Given the description of an element on the screen output the (x, y) to click on. 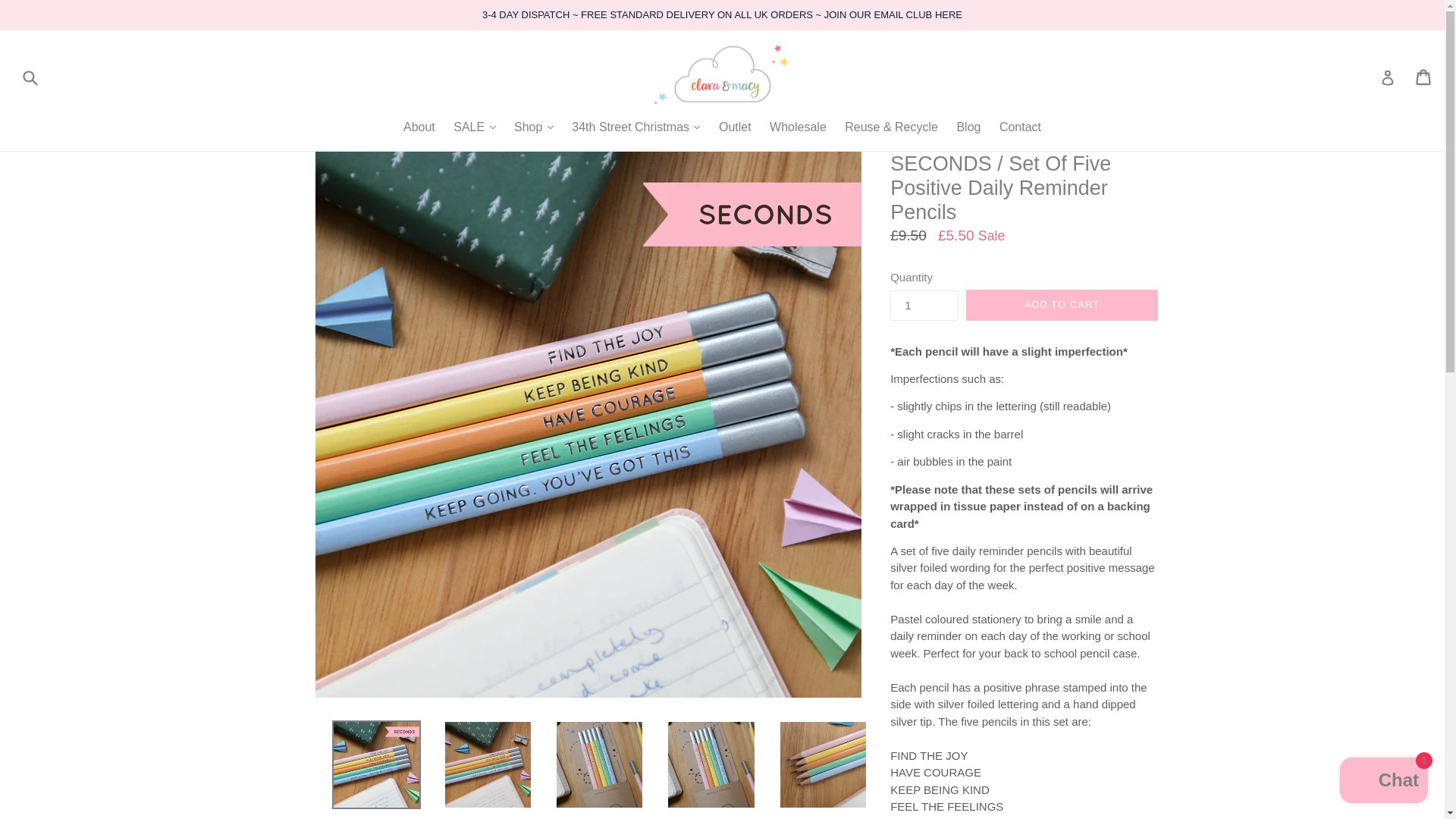
Shopify online store chat (1383, 781)
1 (923, 305)
